Given the description of an element on the screen output the (x, y) to click on. 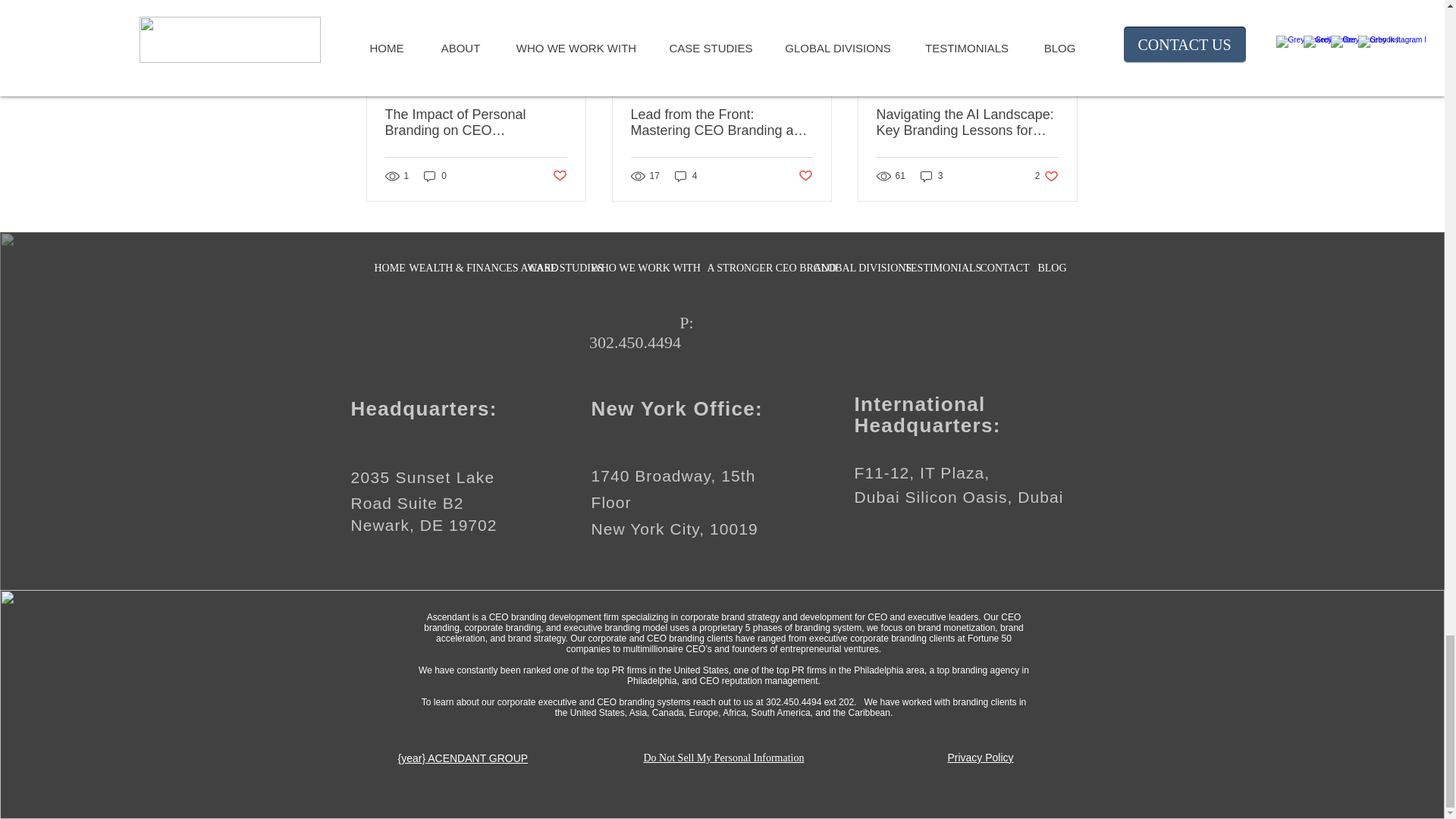
Post not marked as liked (558, 176)
4 (685, 175)
0 (1046, 175)
HOME (435, 175)
3 (390, 268)
Post not marked as liked (931, 175)
